Given the description of an element on the screen output the (x, y) to click on. 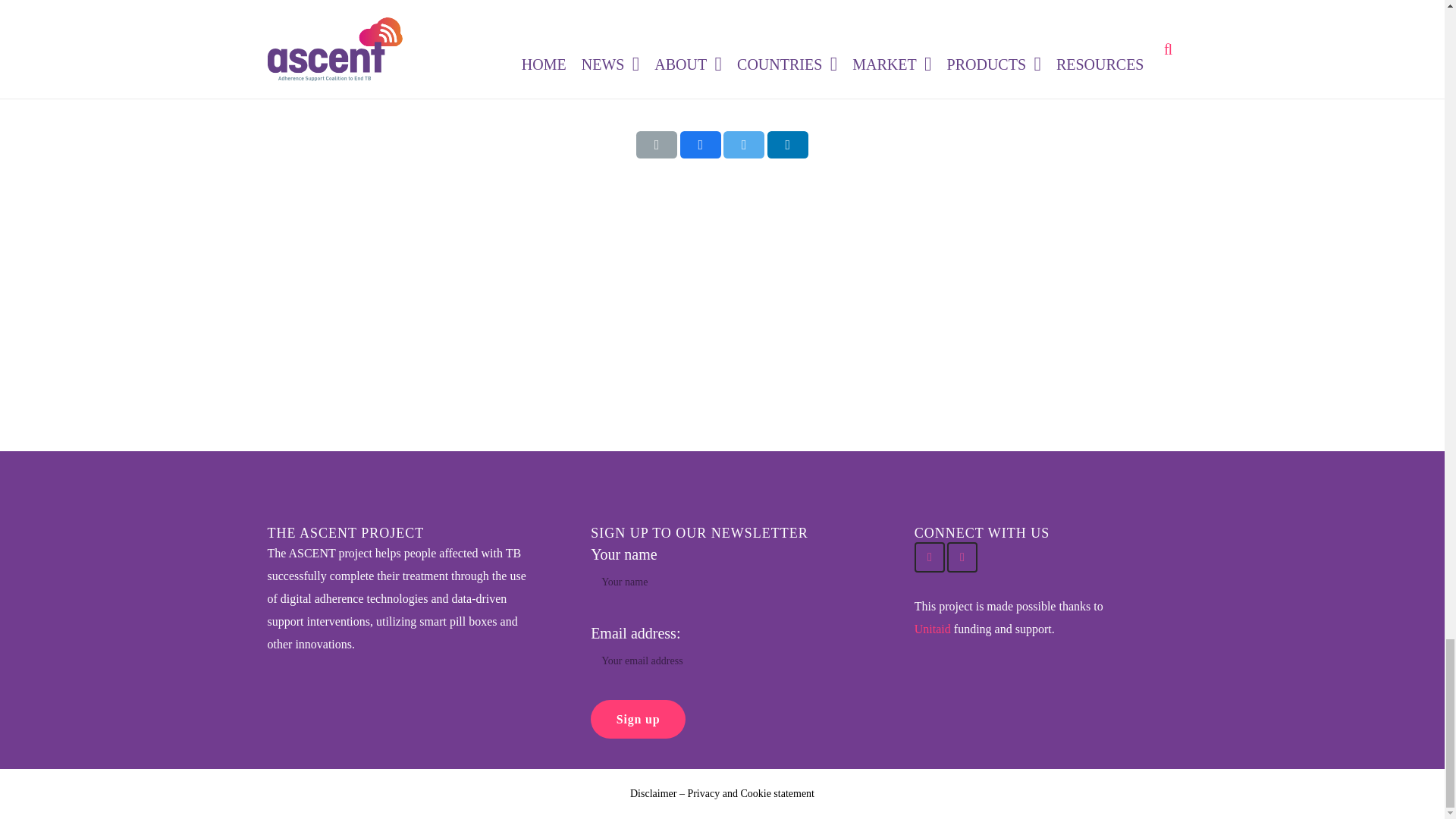
Sign up (638, 719)
Tweet this (743, 144)
Share this (699, 144)
Twitter (929, 557)
Email this (656, 144)
Share this (787, 144)
Facebook (961, 557)
